Given the description of an element on the screen output the (x, y) to click on. 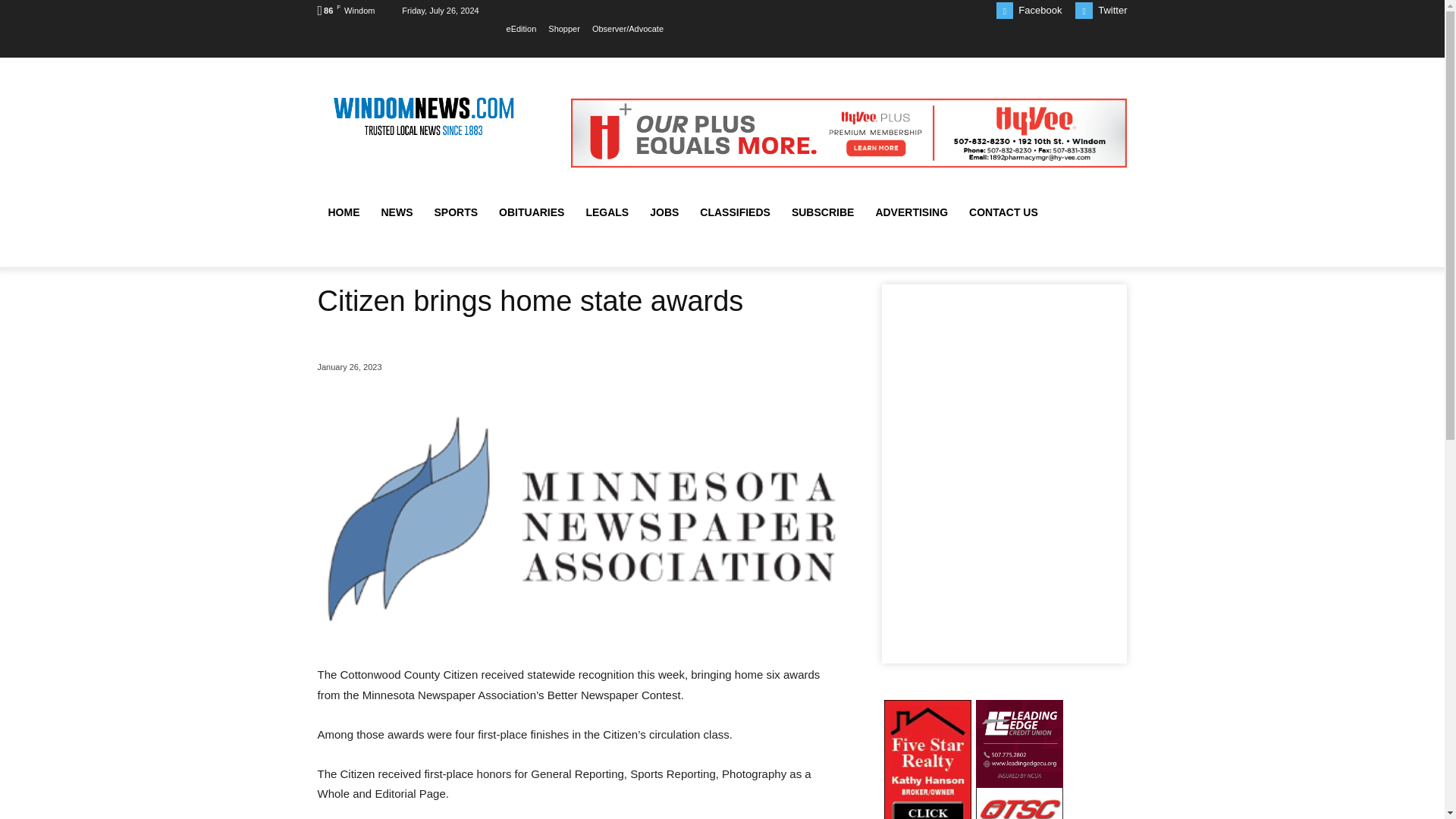
CONTACT US (1003, 212)
OBITUARIES (531, 212)
Shopper (563, 28)
Twitter (1111, 10)
JOBS (663, 212)
Facebook (1039, 10)
ADVERTISING (911, 212)
Twitter (1084, 9)
LEGALS (607, 212)
SUBSCRIBE (822, 212)
Facebook (1004, 9)
mna-logo8 (580, 522)
eEdition (521, 28)
SPORTS (455, 212)
NEWS (396, 212)
